Given the description of an element on the screen output the (x, y) to click on. 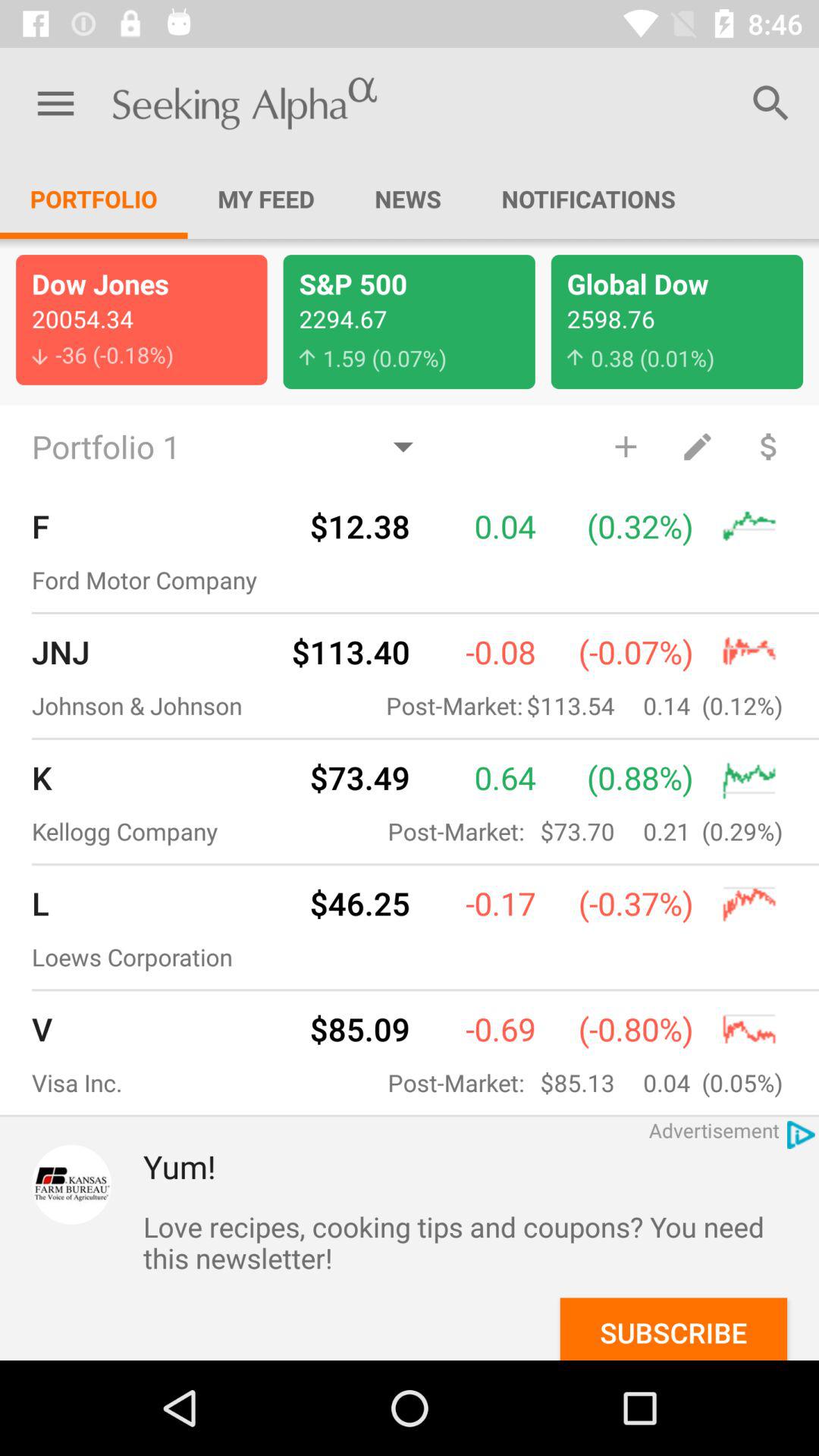
select the item below 0 38 0 item (625, 446)
